Given the description of an element on the screen output the (x, y) to click on. 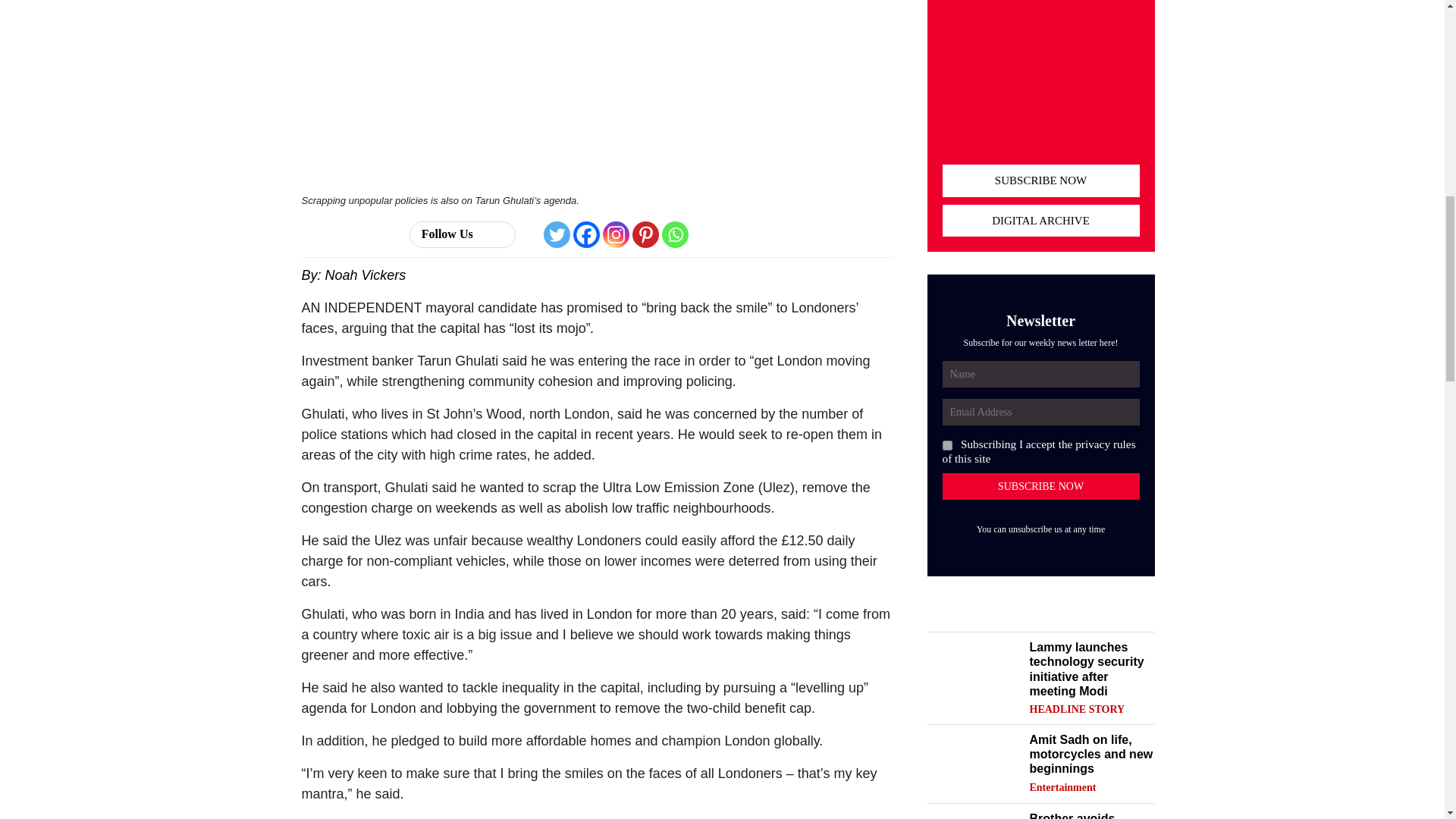
Whatsapp (675, 234)
Twitter (556, 234)
Subscribe Now (1040, 486)
Facebook (586, 234)
on (947, 445)
Instagram (615, 234)
Pinterest (645, 234)
